Given the description of an element on the screen output the (x, y) to click on. 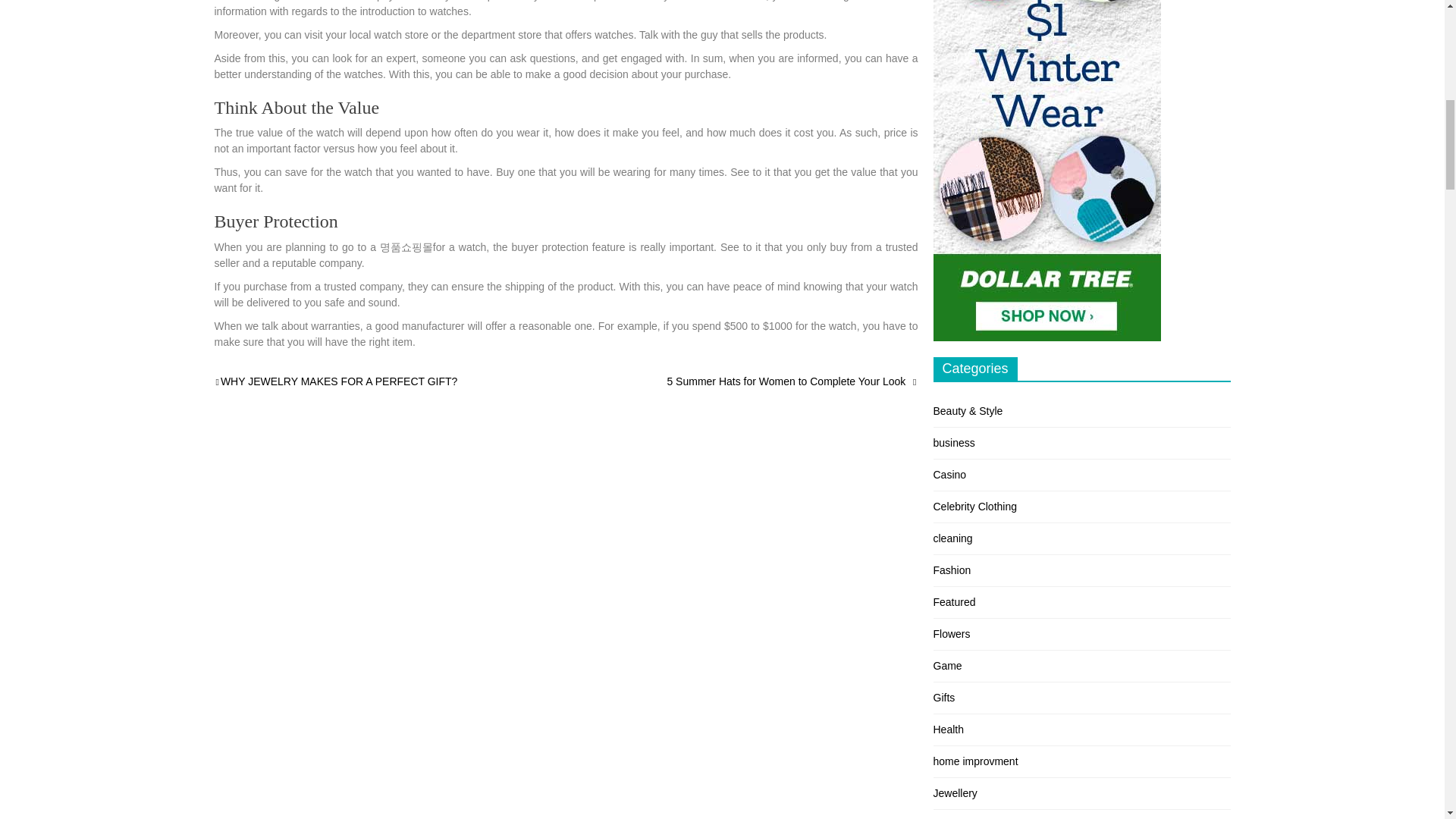
Flowers (951, 633)
Gifts (944, 697)
cleaning (952, 538)
Health (947, 729)
Fashion (952, 570)
business (953, 442)
Jewellery (954, 793)
WHY JEWELRY MAKES FOR A PERFECT GIFT? (335, 381)
5 Summer Hats for Women to Complete Your Look   (791, 381)
Game (946, 665)
Casino (949, 474)
Celebrity Clothing (974, 506)
home improvment (975, 761)
Featured (954, 602)
